Given the description of an element on the screen output the (x, y) to click on. 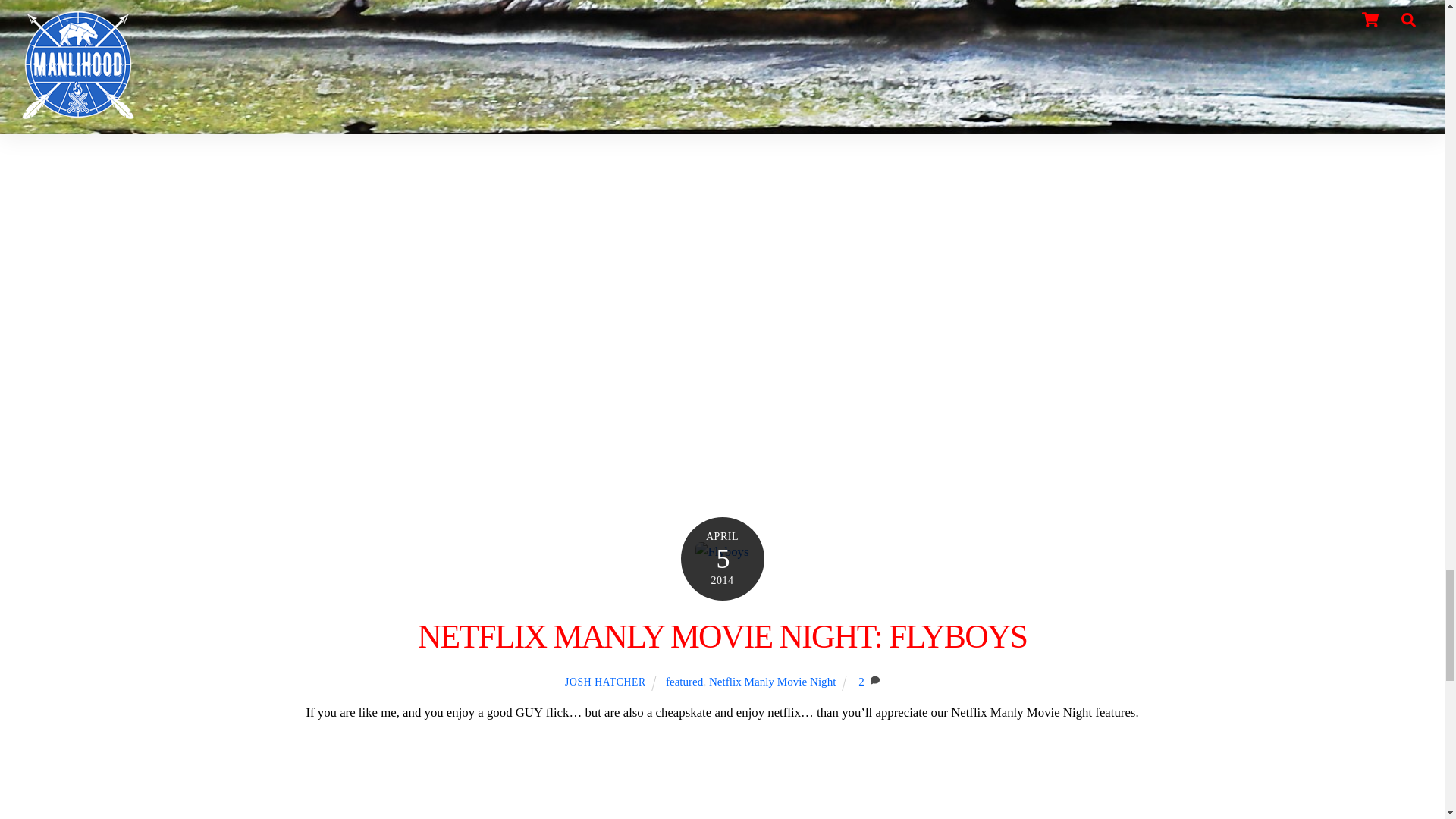
Flyboys (721, 551)
